Given the description of an element on the screen output the (x, y) to click on. 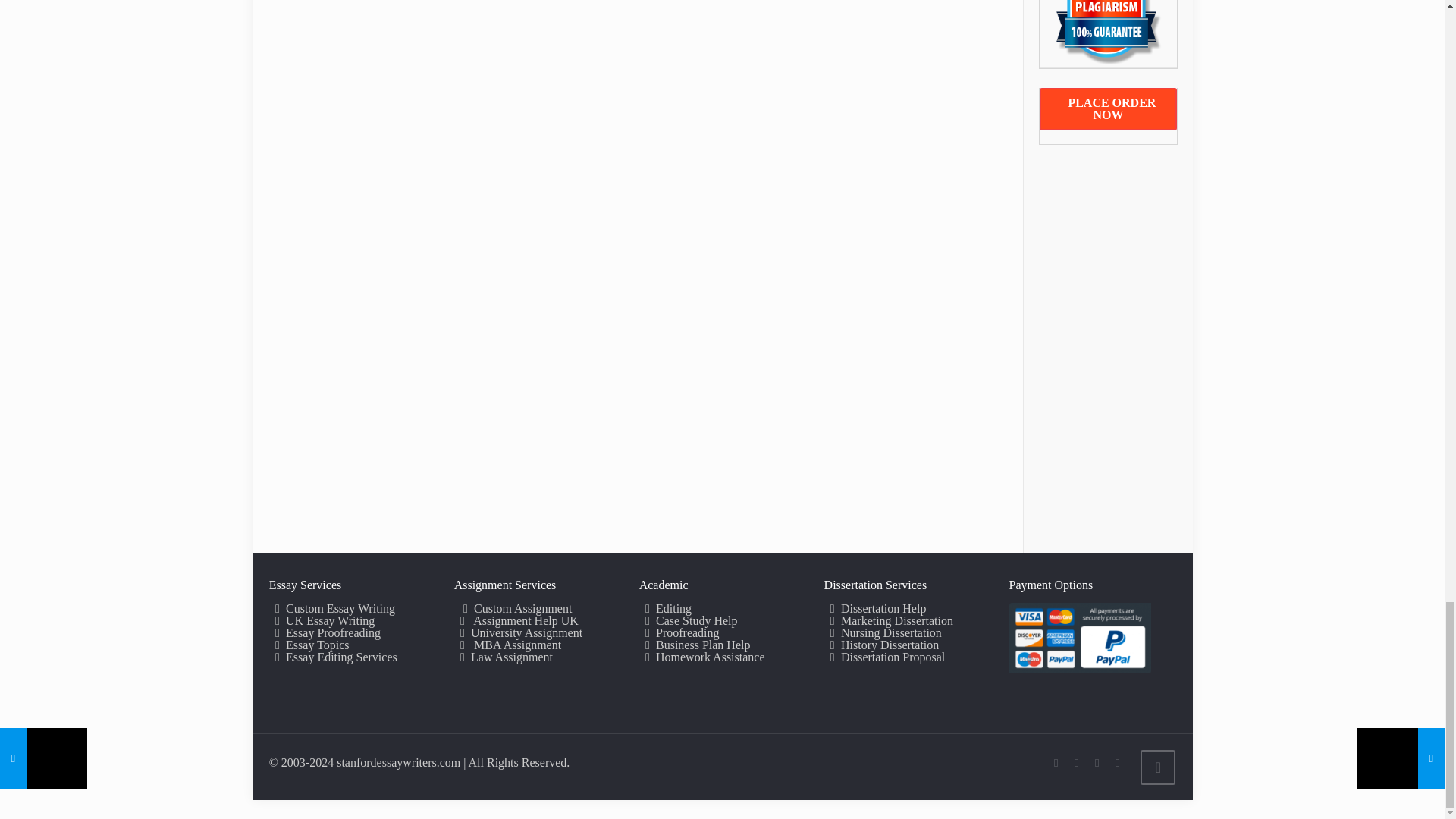
WhatsApp (1056, 762)
Facebook (1076, 762)
Instagram (1117, 762)
Twitter (1097, 762)
